Given the description of an element on the screen output the (x, y) to click on. 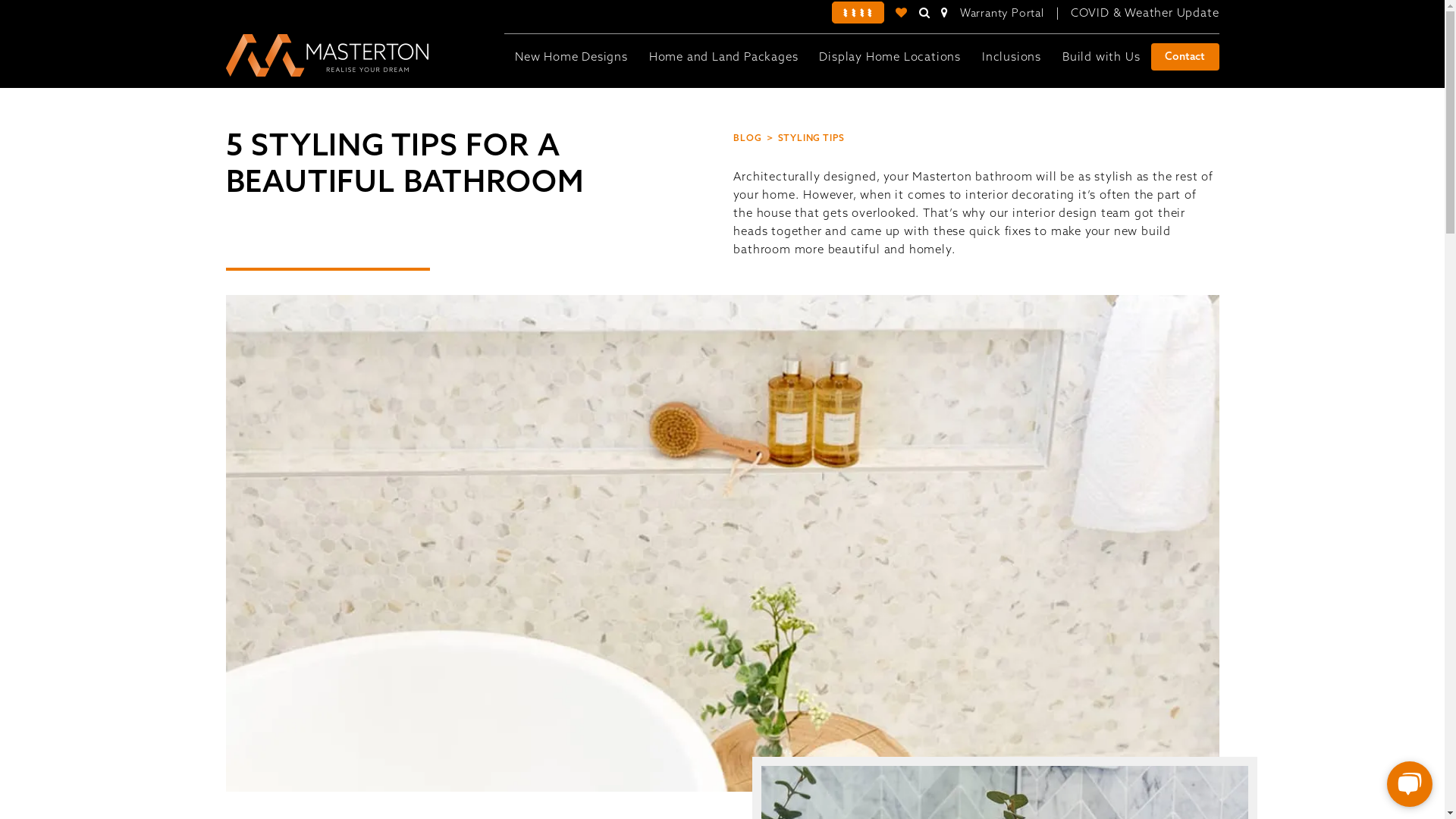
Contact Element type: text (1185, 56)
Build with Us Element type: text (1100, 56)
Display Home Locations Element type: text (889, 56)
BLOG Element type: text (752, 137)
New Home Designs Element type: text (571, 56)
Inclusions Element type: text (1011, 56)
COVID & Weather Update Element type: text (1144, 12)
Home and Land Packages Element type: text (723, 56)
STYLING TIPS Element type: text (809, 137)
Warranty Portal Element type: text (1002, 12)
